Given the description of an element on the screen output the (x, y) to click on. 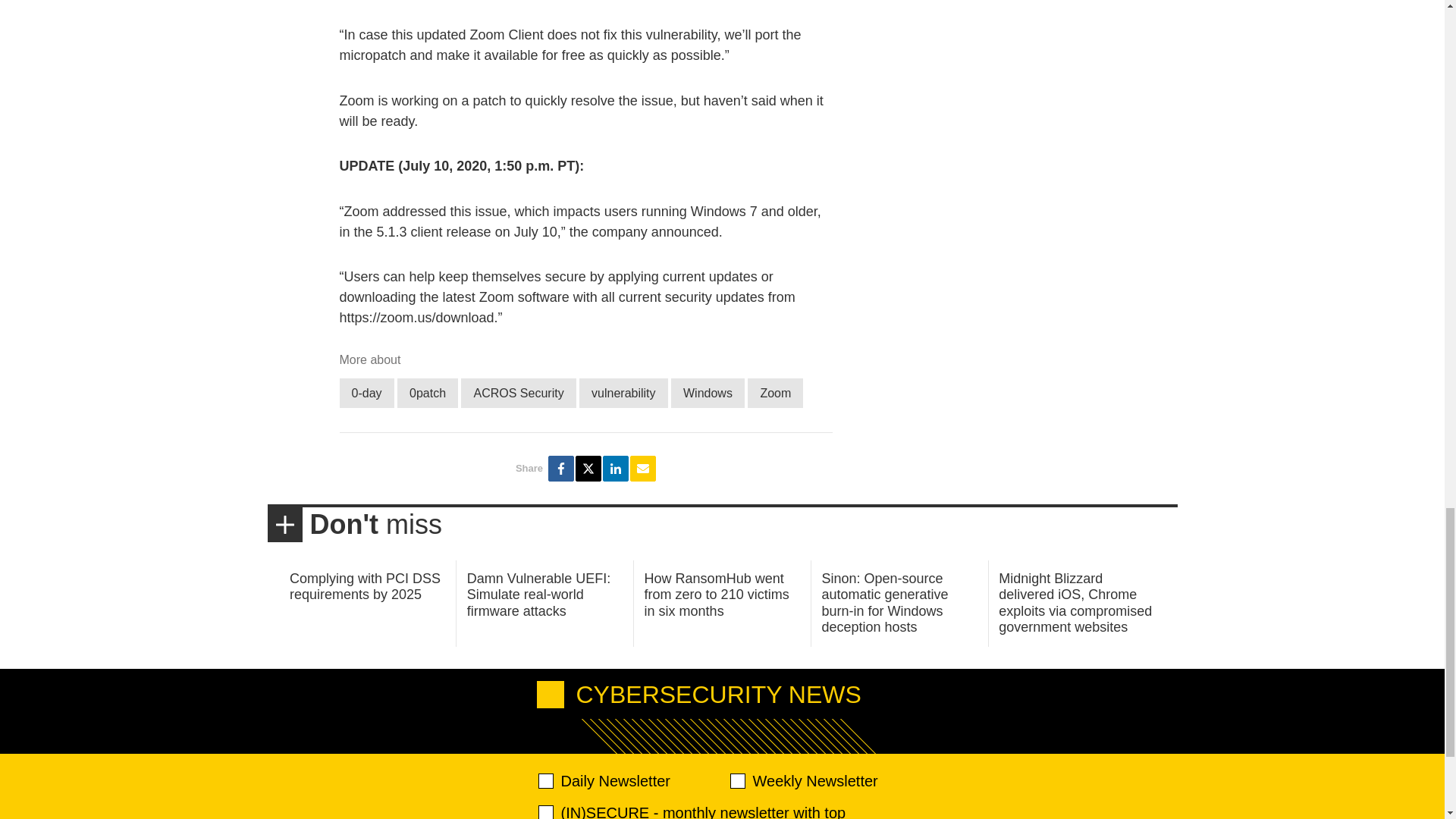
0patch (427, 392)
ACROS Security (518, 392)
vulnerability (622, 392)
d2d471aafa (736, 780)
0patch (427, 392)
vulnerability (622, 392)
0-day (366, 392)
Zoom (775, 392)
ACROS Security (518, 392)
28abe5d9ef (545, 812)
